Given the description of an element on the screen output the (x, y) to click on. 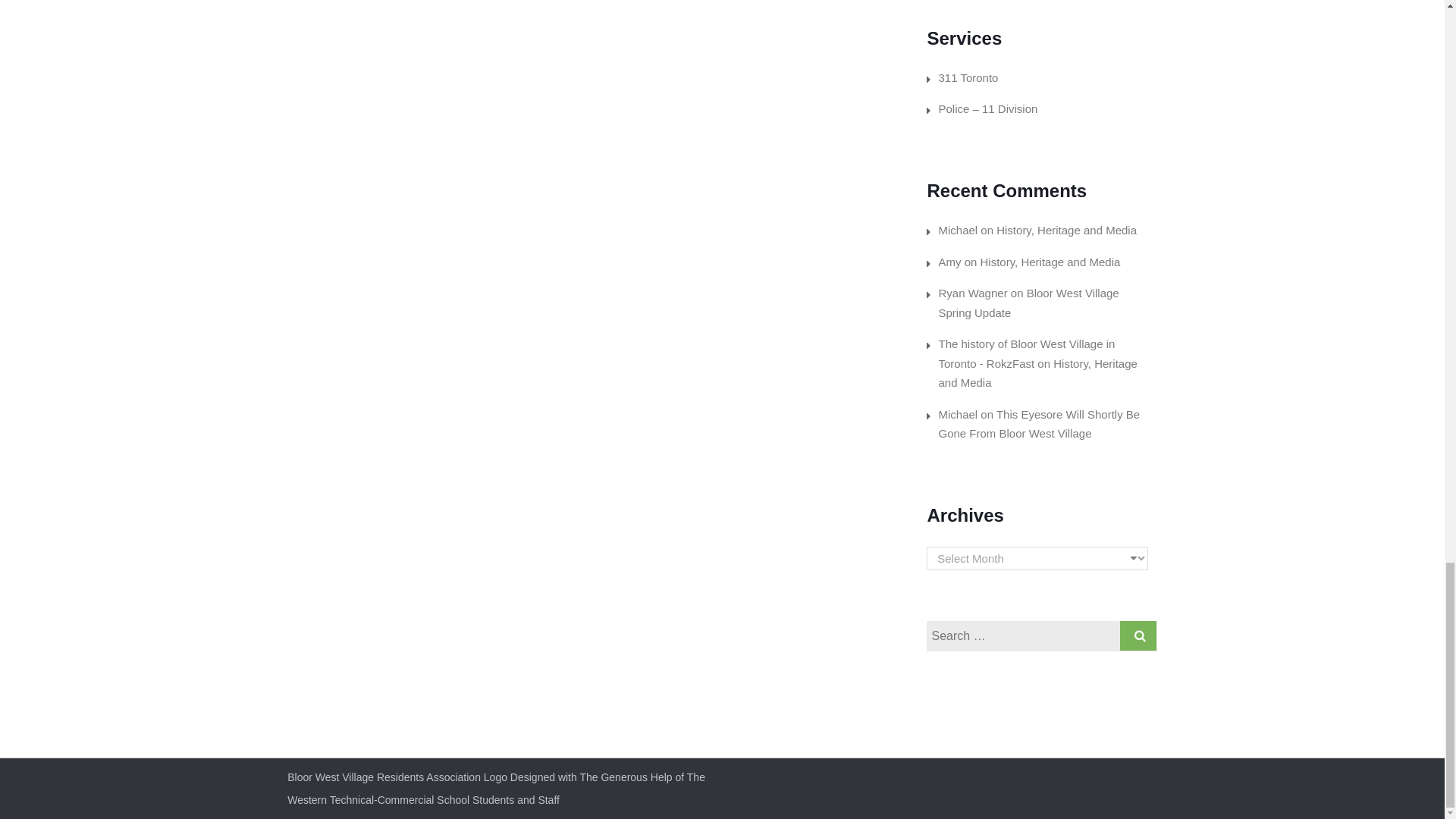
Search (1137, 635)
Search (1137, 635)
